Given the description of an element on the screen output the (x, y) to click on. 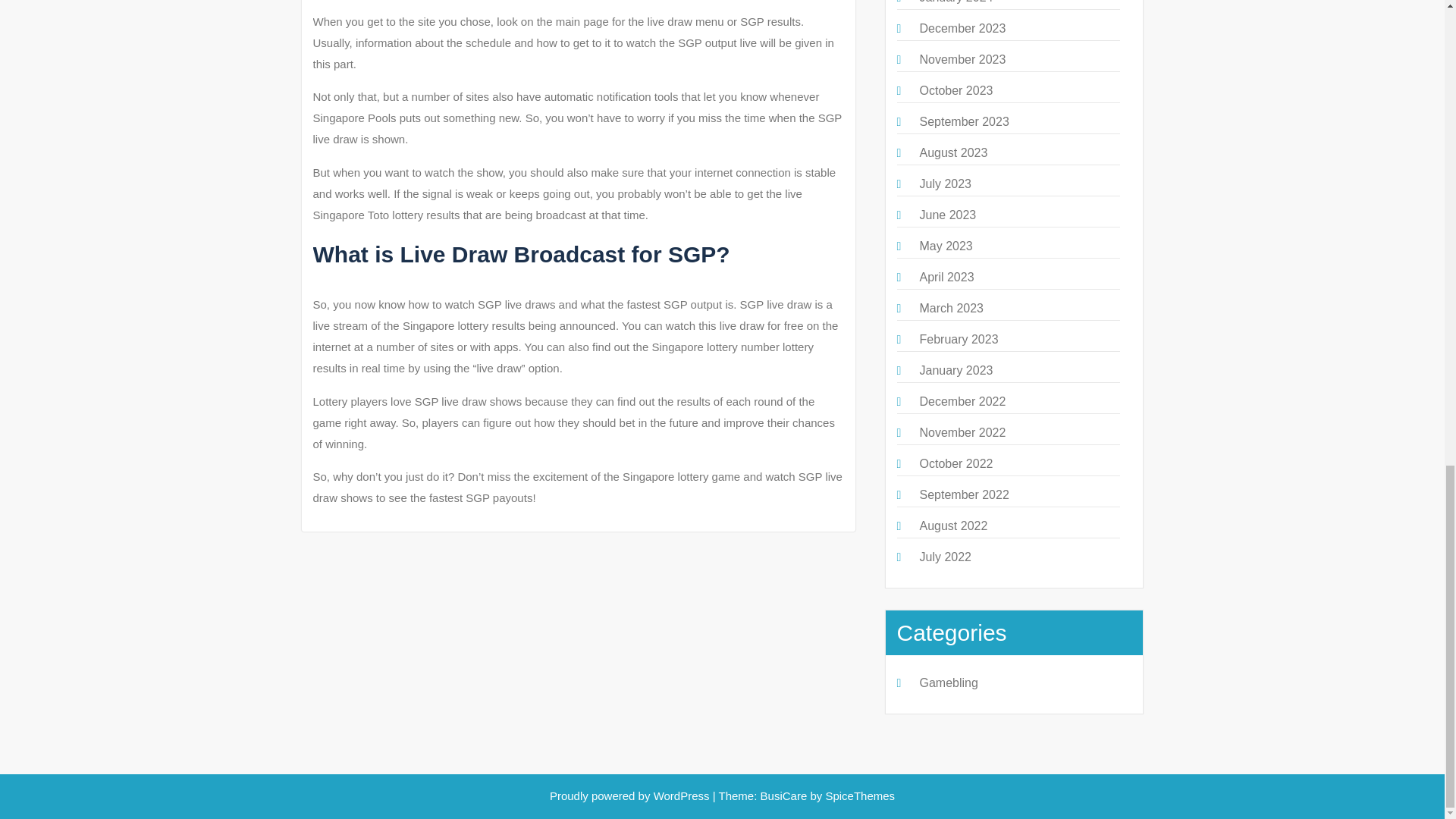
Gamebling (947, 682)
February 2023 (957, 338)
July 2022 (944, 556)
July 2023 (944, 183)
January 2024 (955, 2)
March 2023 (951, 308)
June 2023 (946, 214)
August 2022 (952, 525)
November 2022 (962, 431)
November 2023 (962, 59)
September 2023 (963, 121)
January 2023 (955, 369)
May 2023 (945, 245)
April 2023 (946, 277)
September 2022 (963, 494)
